Given the description of an element on the screen output the (x, y) to click on. 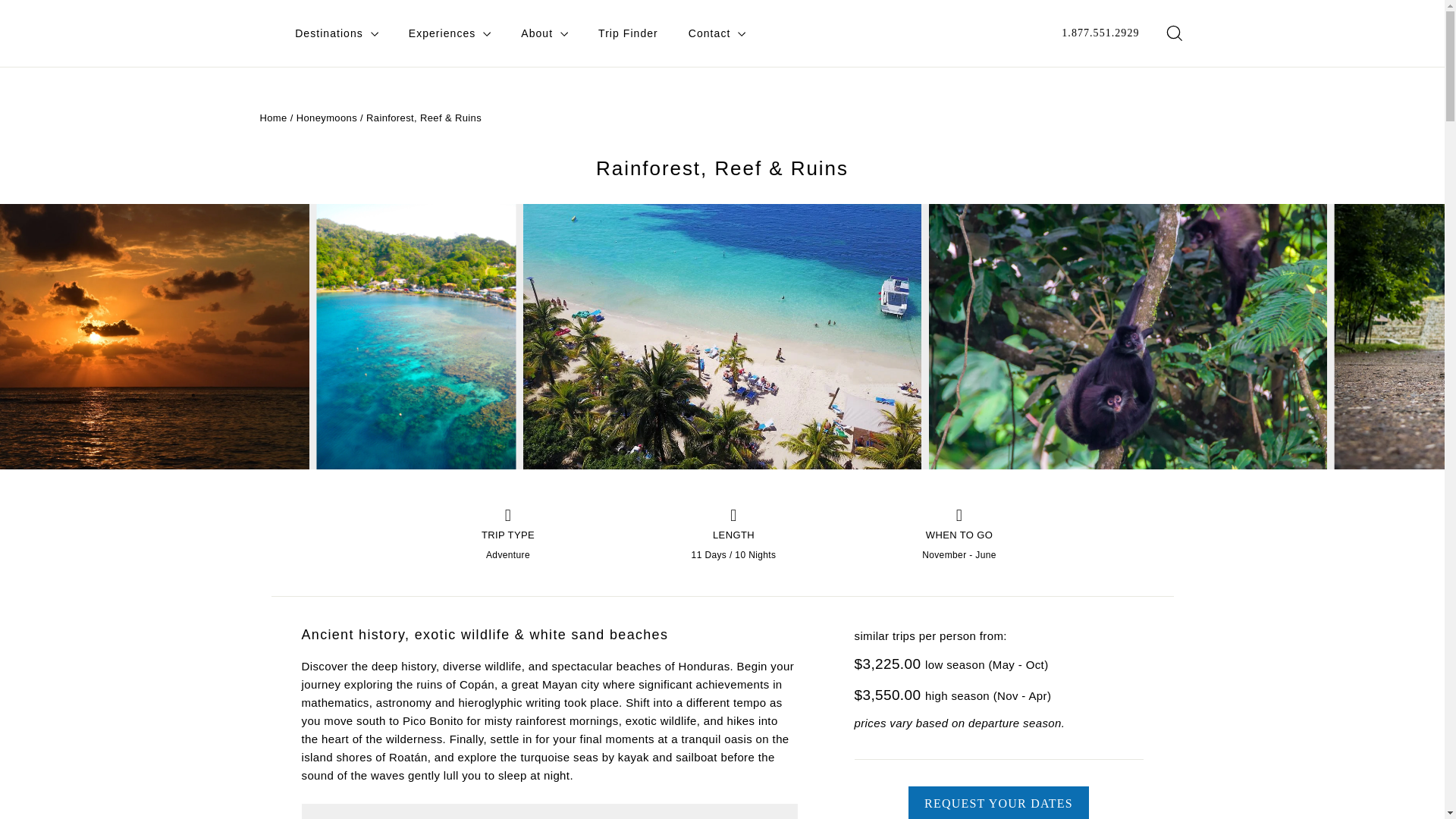
Back to the frontpage (272, 117)
Destinations (336, 33)
Experiences (449, 33)
